Given the description of an element on the screen output the (x, y) to click on. 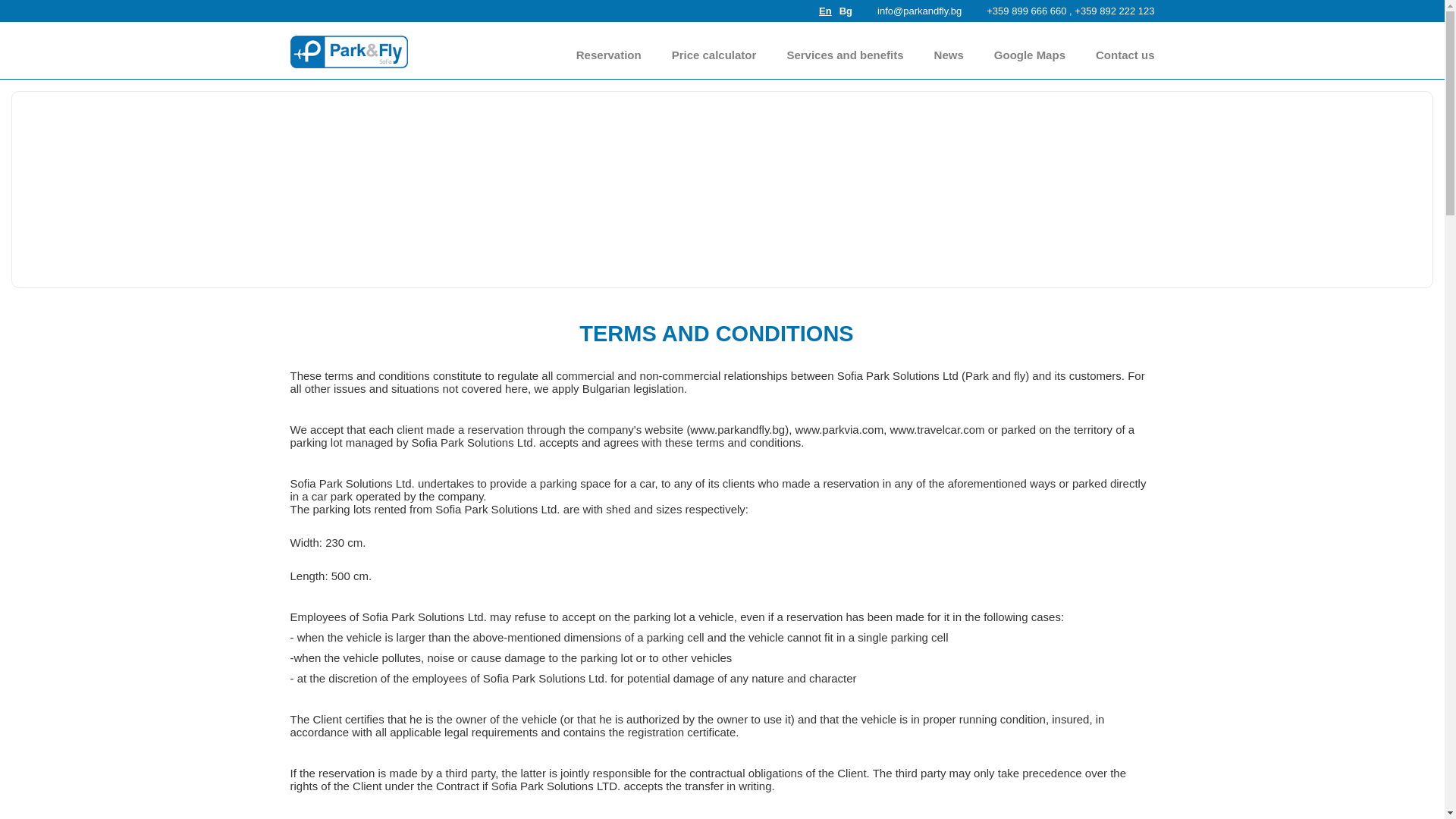
Price calculator (714, 54)
Google Maps (1029, 54)
Contact us (1125, 54)
News (948, 54)
Services and benefits (844, 54)
Reservation (609, 54)
